Given the description of an element on the screen output the (x, y) to click on. 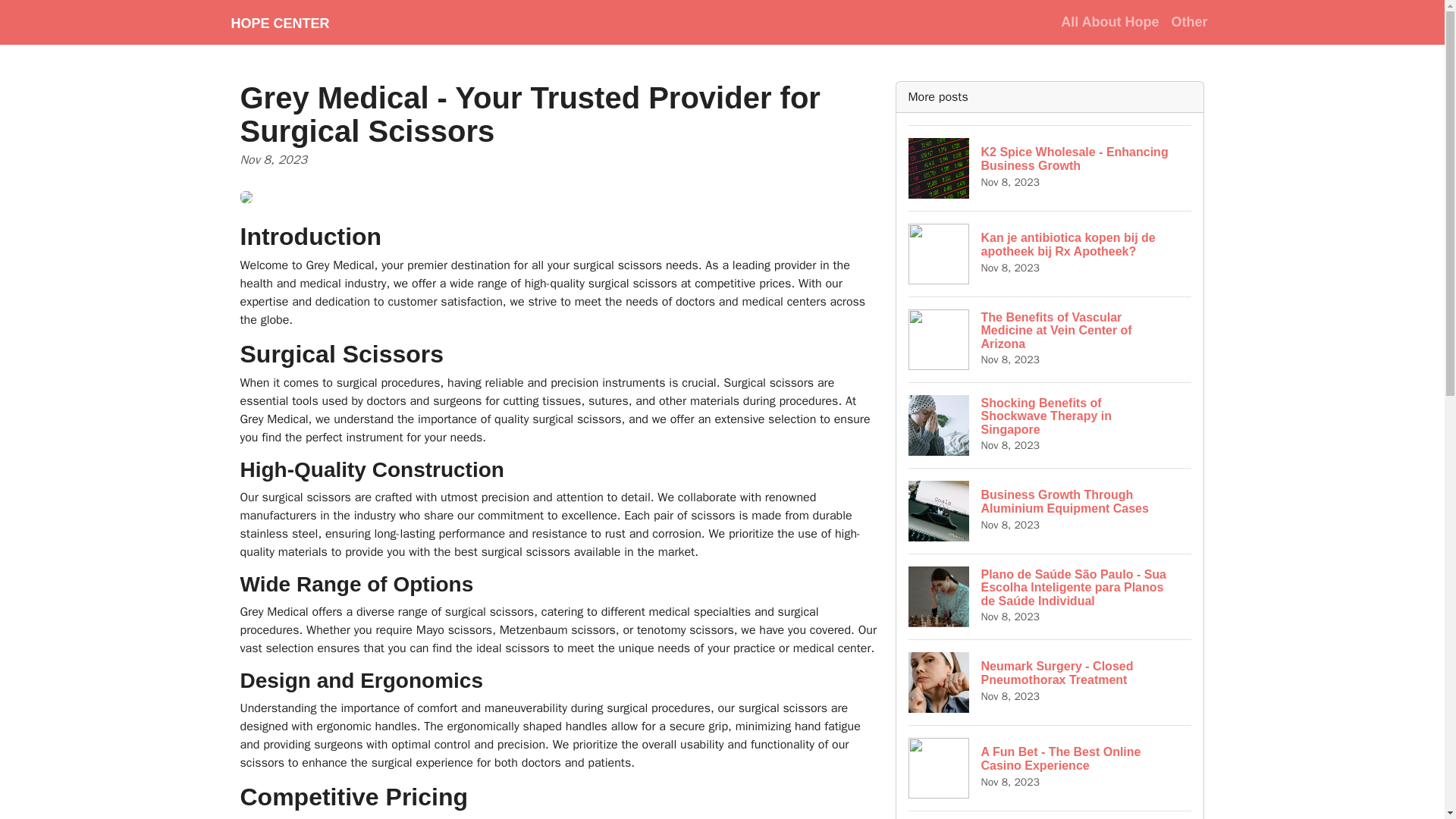
Other (1050, 681)
HOPE CENTER (1050, 167)
